Given the description of an element on the screen output the (x, y) to click on. 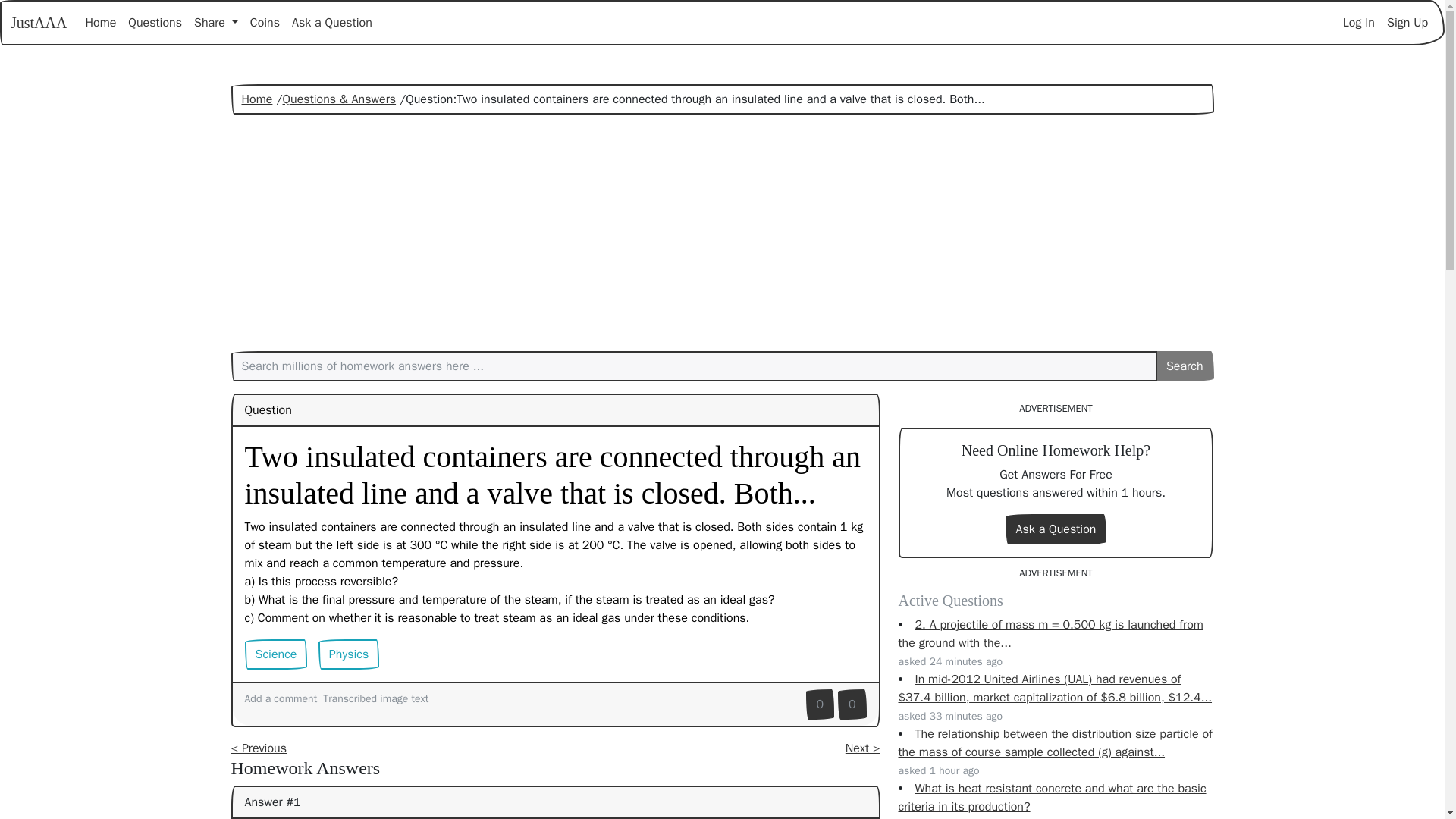
Home (100, 22)
Questions (154, 22)
0 (852, 704)
0 (820, 704)
Log In (1358, 22)
Ask a Question (331, 22)
This is not useful (852, 704)
JustAAA (38, 22)
Physics (348, 654)
Transcribed image text (375, 698)
This is useful (820, 704)
Sign Up (1407, 22)
Science (275, 654)
Search (1185, 366)
